Given the description of an element on the screen output the (x, y) to click on. 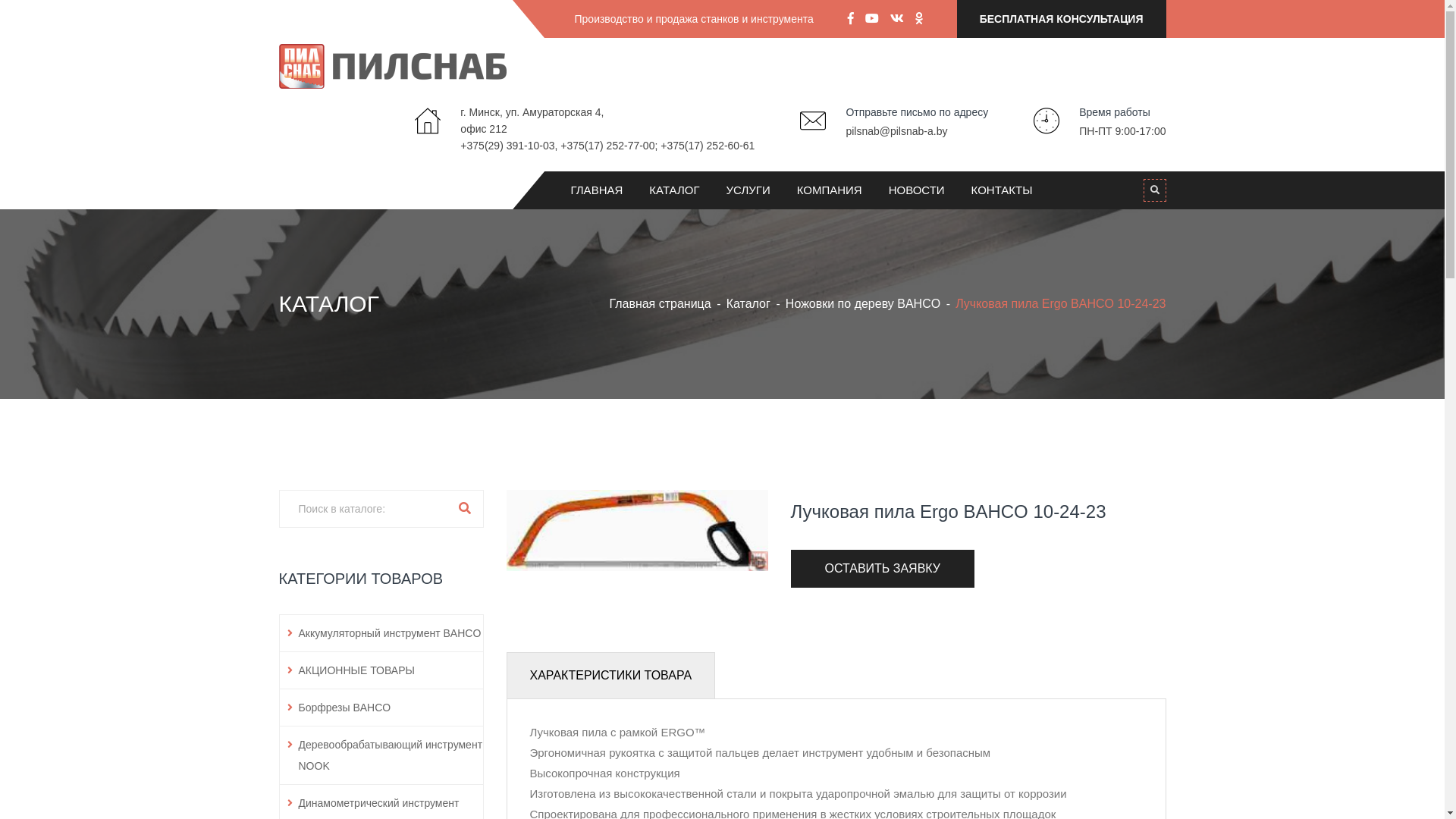
pilsnab@pilsnab-a.by Element type: text (896, 131)
+375(29) 391-10-03 Element type: text (507, 145)
+375(17) 252-60-61 Element type: text (707, 145)
+375(17) 252-77-00 Element type: text (607, 145)
